Given the description of an element on the screen output the (x, y) to click on. 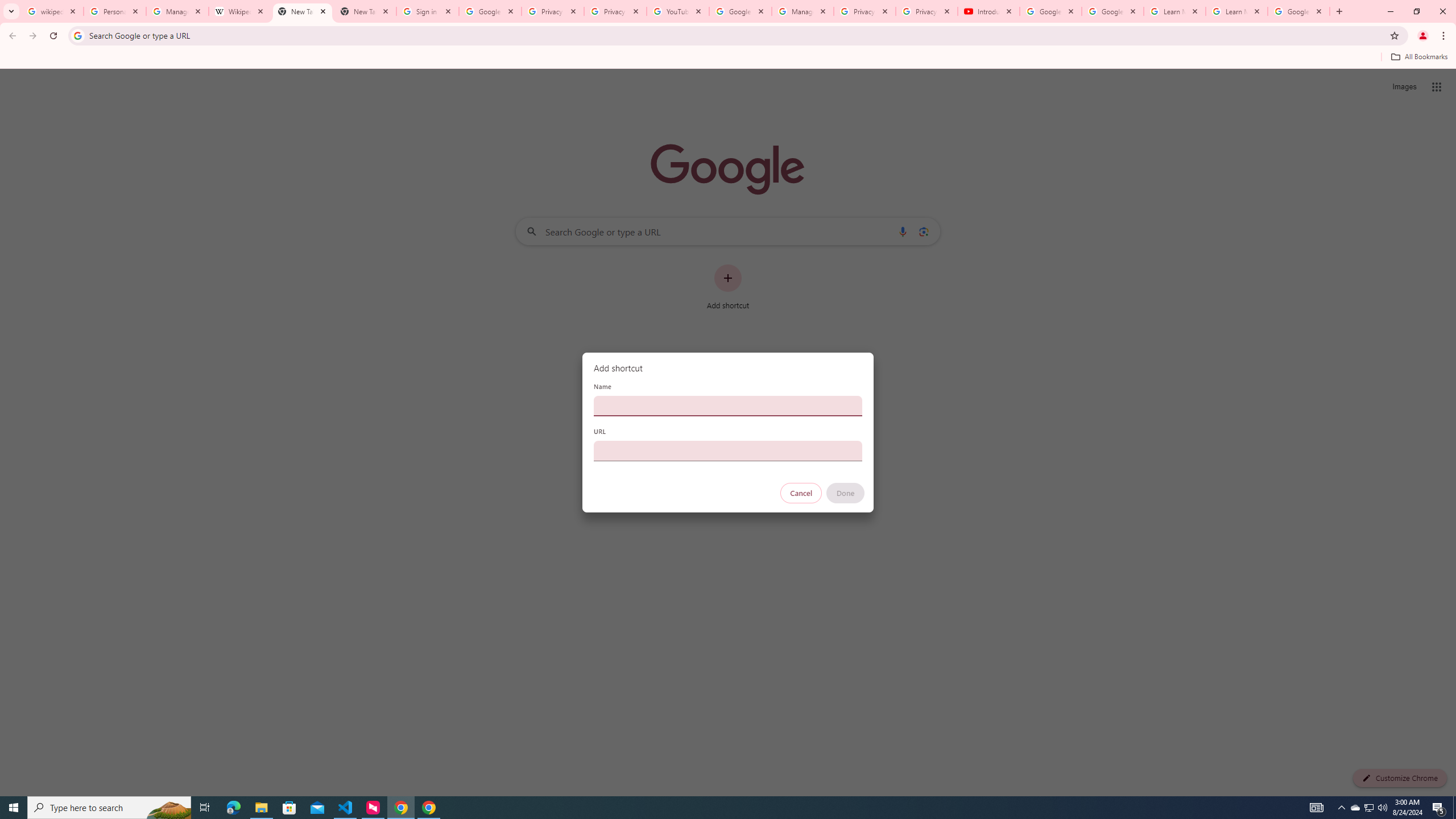
Manage your Location History - Google Search Help (177, 11)
Name (727, 405)
